Given the description of an element on the screen output the (x, y) to click on. 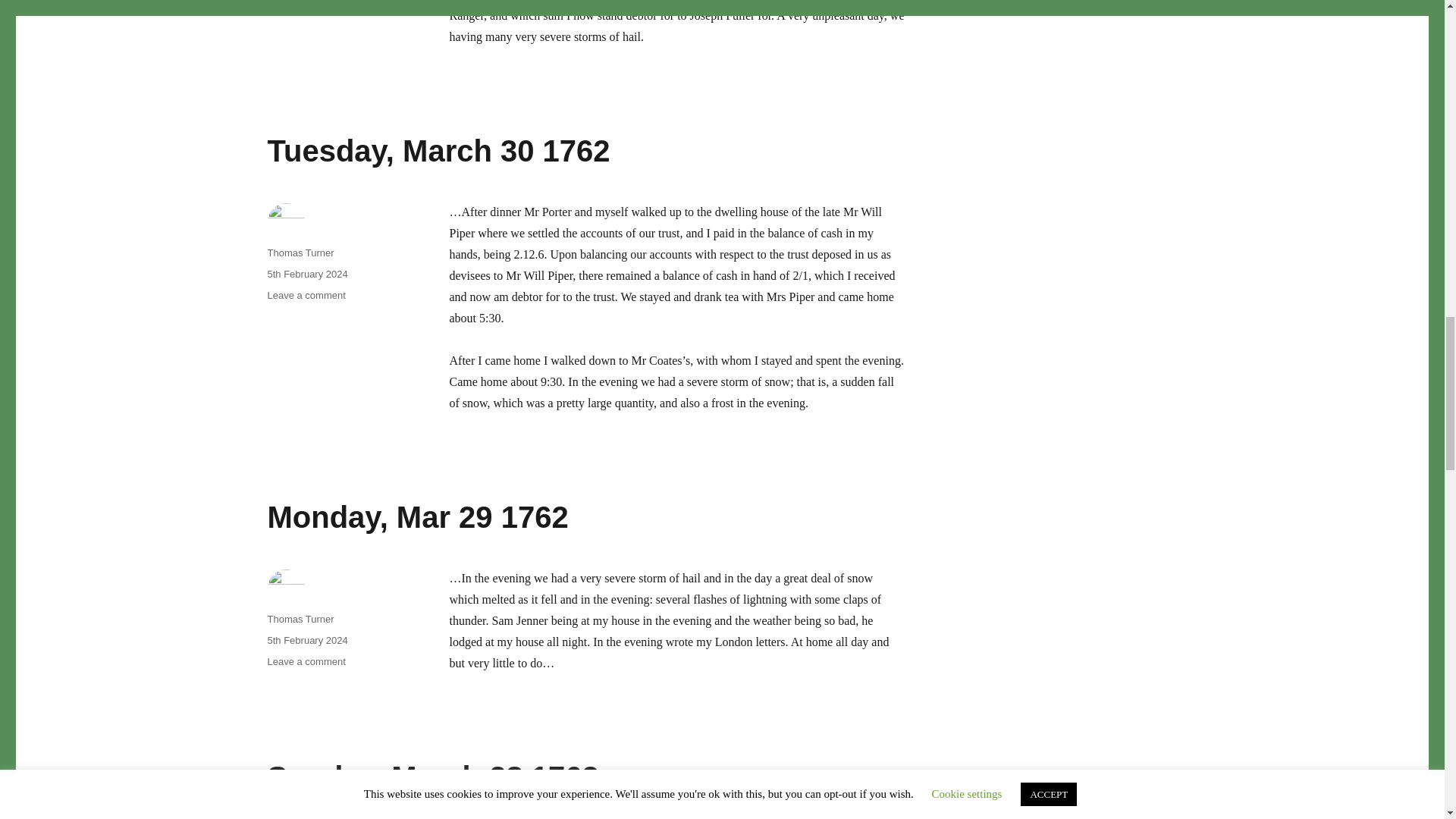
5th February 2024 (306, 640)
5th February 2024 (306, 274)
Thomas Turner (299, 252)
Tuesday, March 30 1762 (438, 150)
Thomas Turner (299, 618)
Monday, Mar 29 1762 (416, 516)
Sunday, March 28 1762 (432, 776)
